Given the description of an element on the screen output the (x, y) to click on. 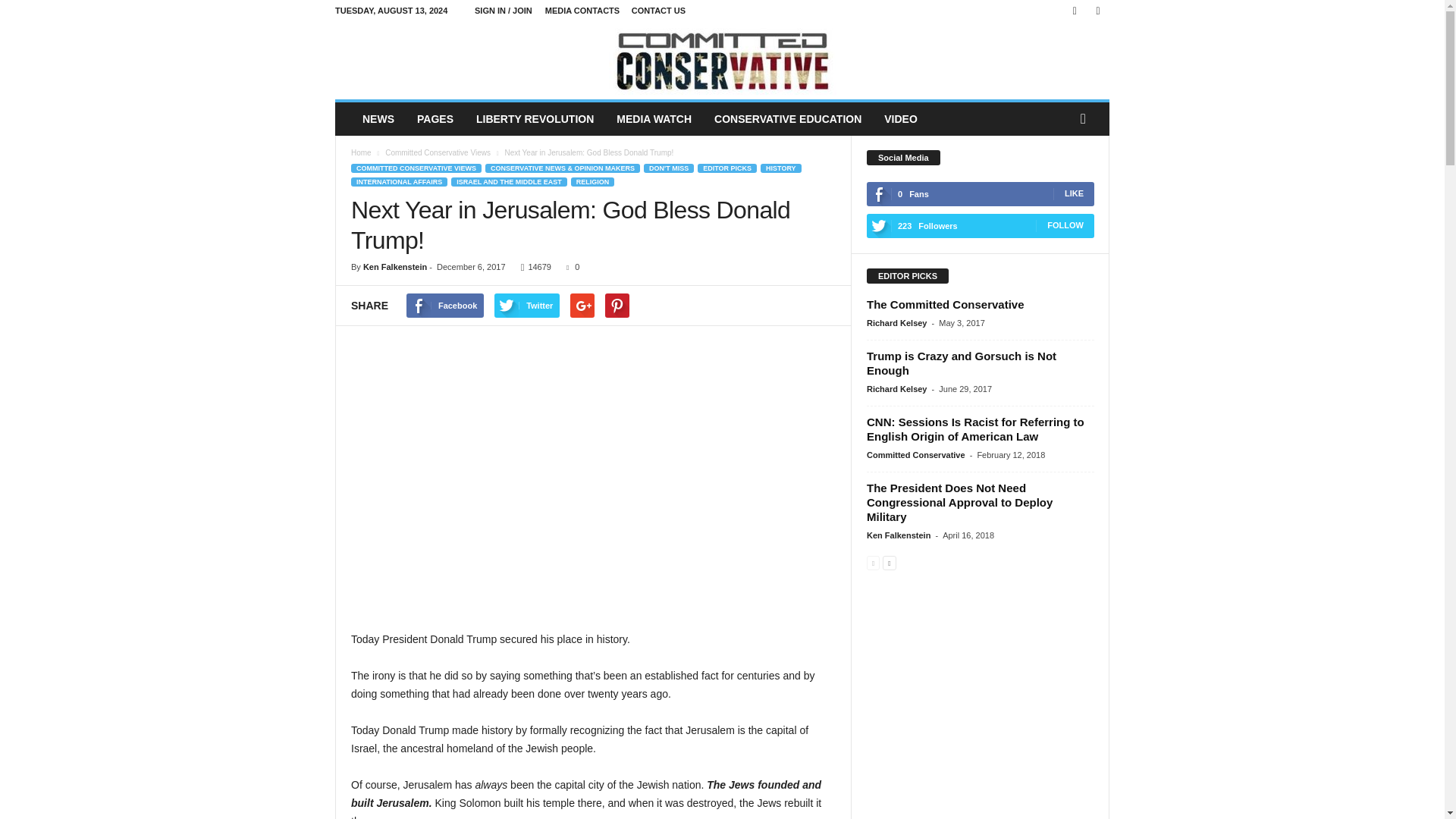
CONTACT US (658, 10)
Committed Conservative (721, 60)
PAGES (435, 118)
LIBERTY REVOLUTION (534, 118)
MEDIA CONTACTS (582, 10)
NEWS (378, 118)
